Given the description of an element on the screen output the (x, y) to click on. 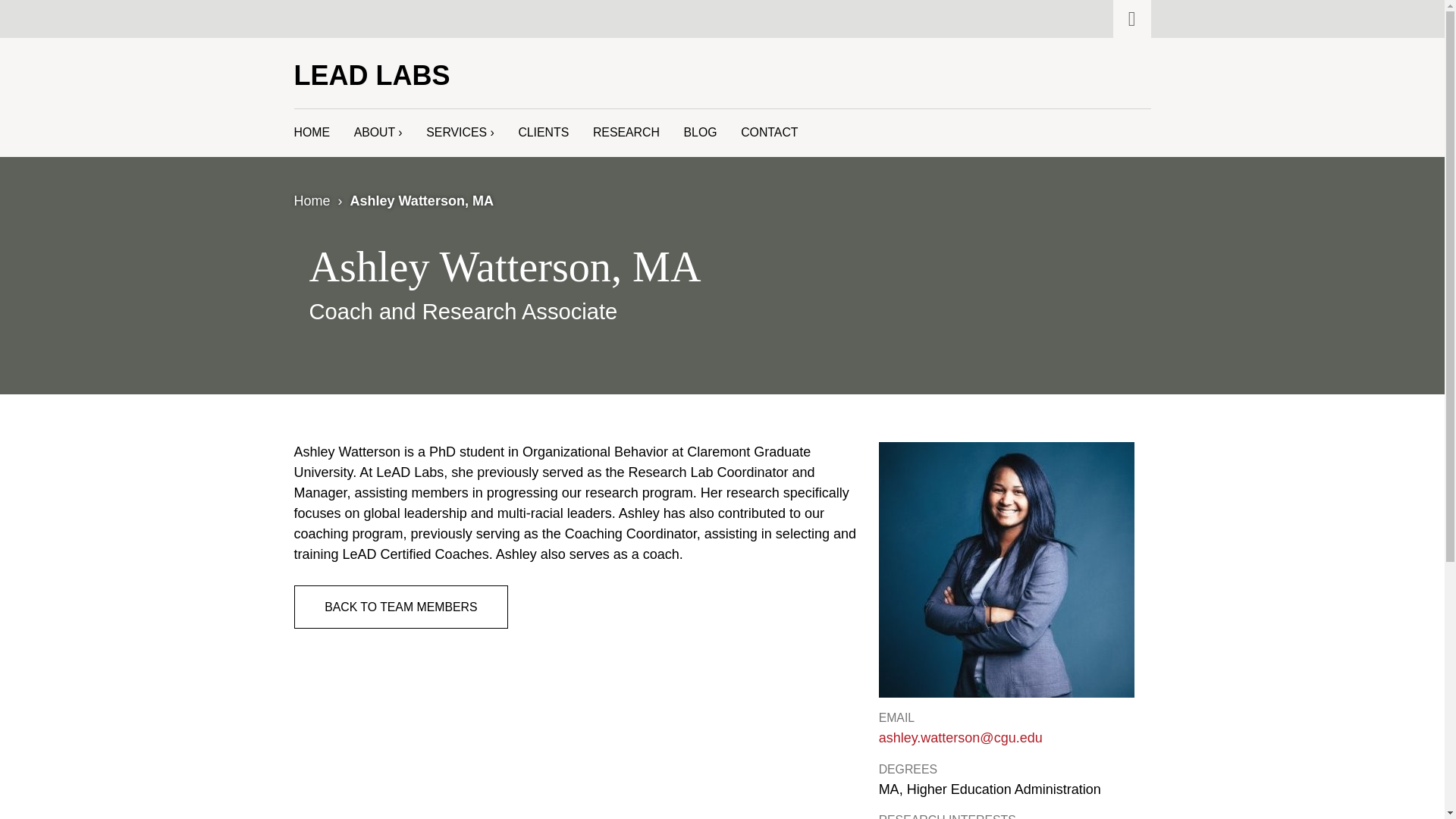
LEAD LABS (371, 74)
RESEARCH (625, 132)
ABOUT (378, 132)
Home (312, 200)
SERVICES (459, 132)
CLIENTS (543, 132)
CONTACT (769, 132)
Press Enter (1114, 115)
open search field (1132, 18)
BACK TO TEAM MEMBERS (401, 606)
